Given the description of an element on the screen output the (x, y) to click on. 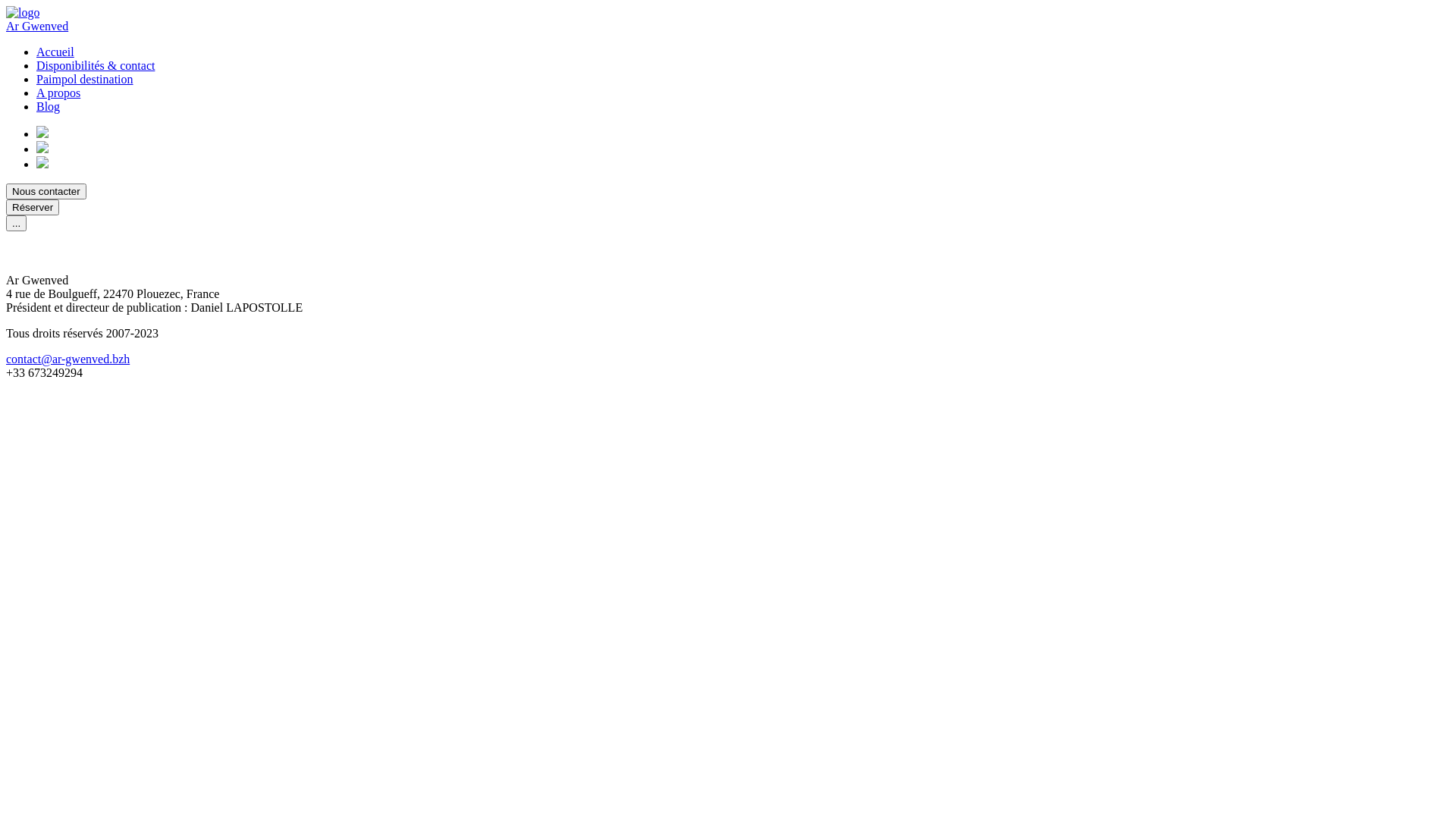
... Element type: text (16, 223)
Ar Gwenved Element type: text (37, 25)
Blog Element type: text (47, 106)
A propos Element type: text (58, 92)
Paimpol destination Element type: text (84, 78)
Nous contacter Element type: text (46, 191)
contact@ar-gwenved.bzh Element type: text (67, 358)
Accueil Element type: text (55, 51)
